Given the description of an element on the screen output the (x, y) to click on. 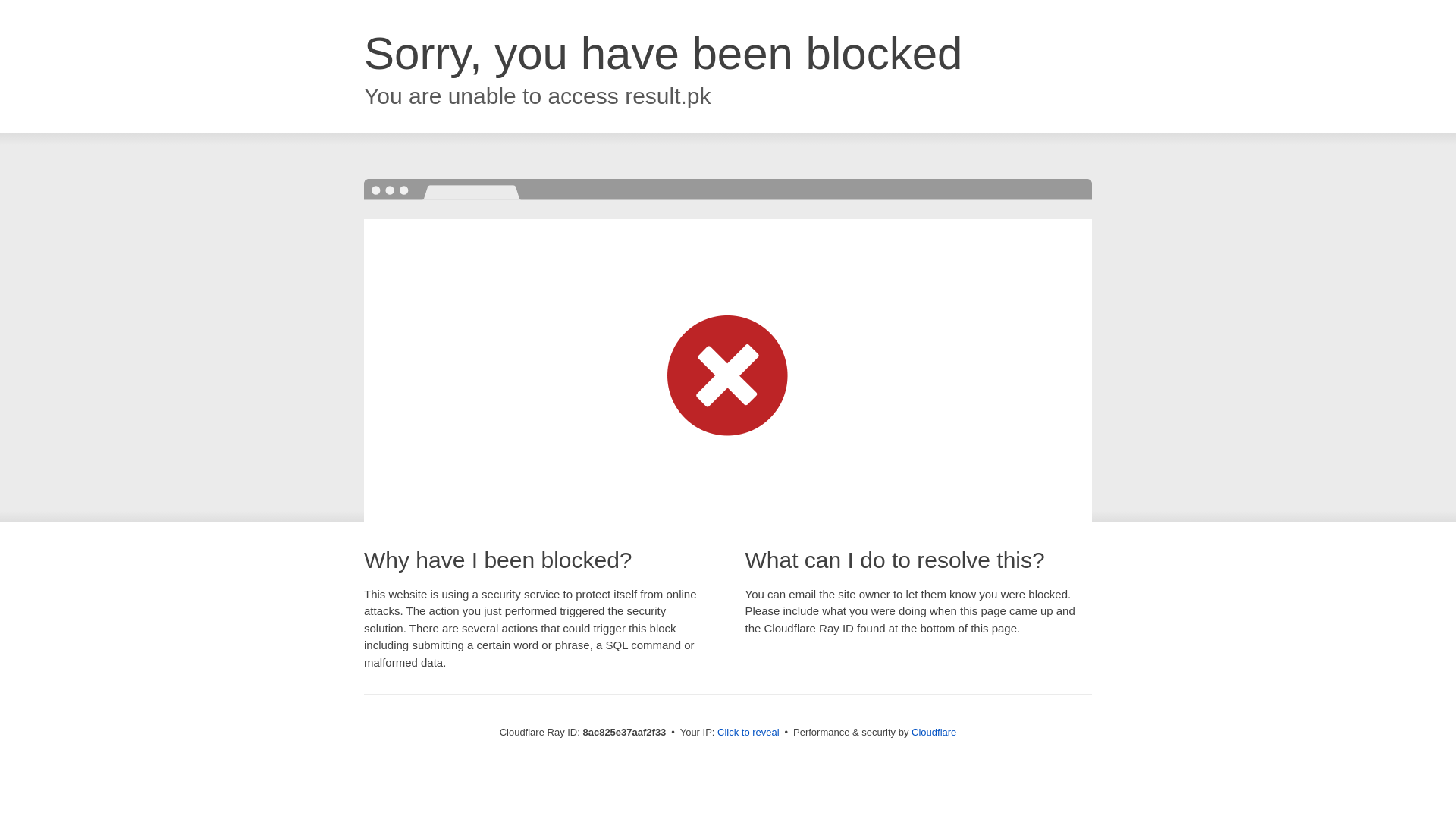
Cloudflare (933, 731)
Click to reveal (747, 732)
